Given the description of an element on the screen output the (x, y) to click on. 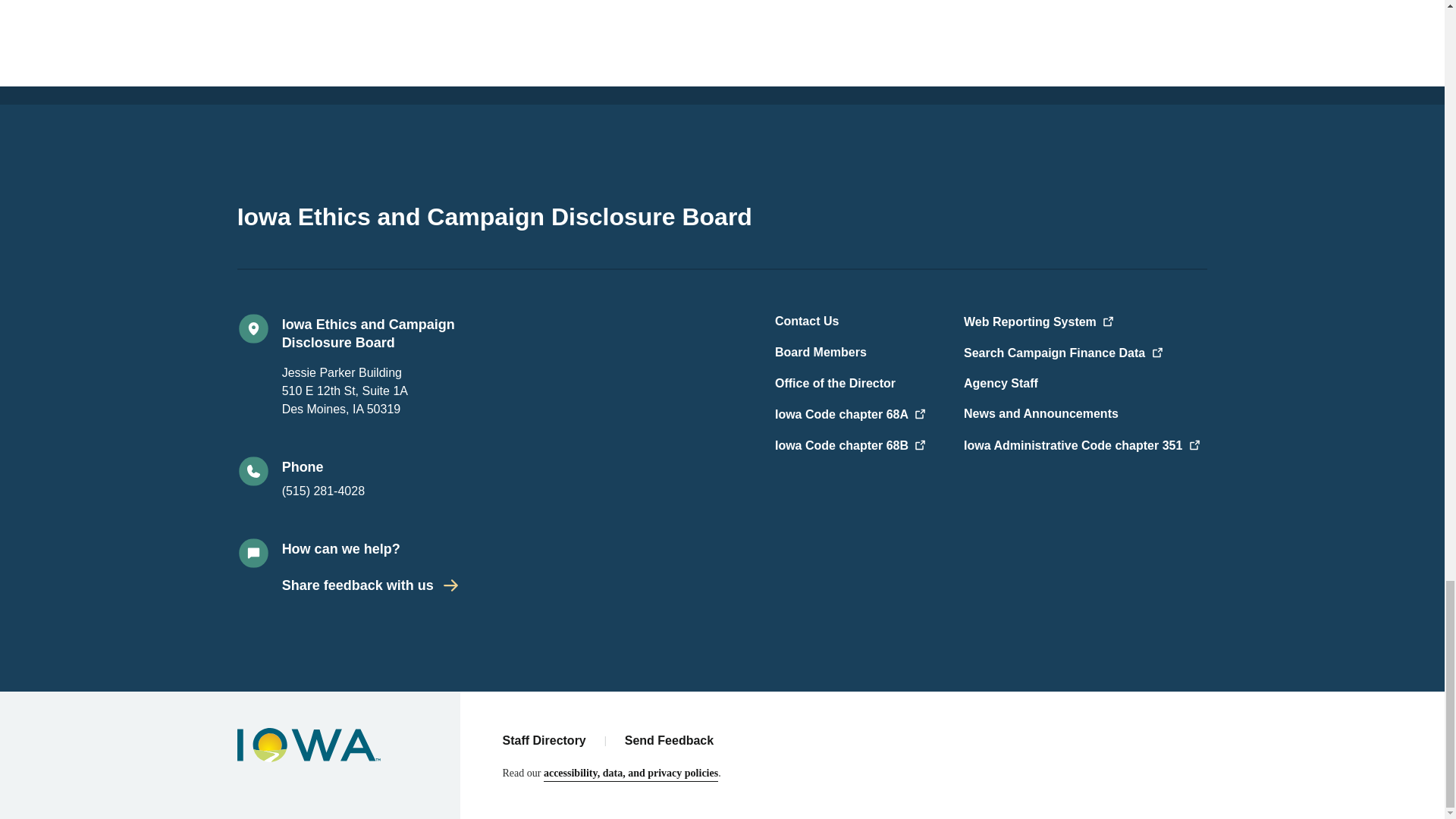
search  (1082, 352)
Access the WRS (1082, 321)
